Given the description of an element on the screen output the (x, y) to click on. 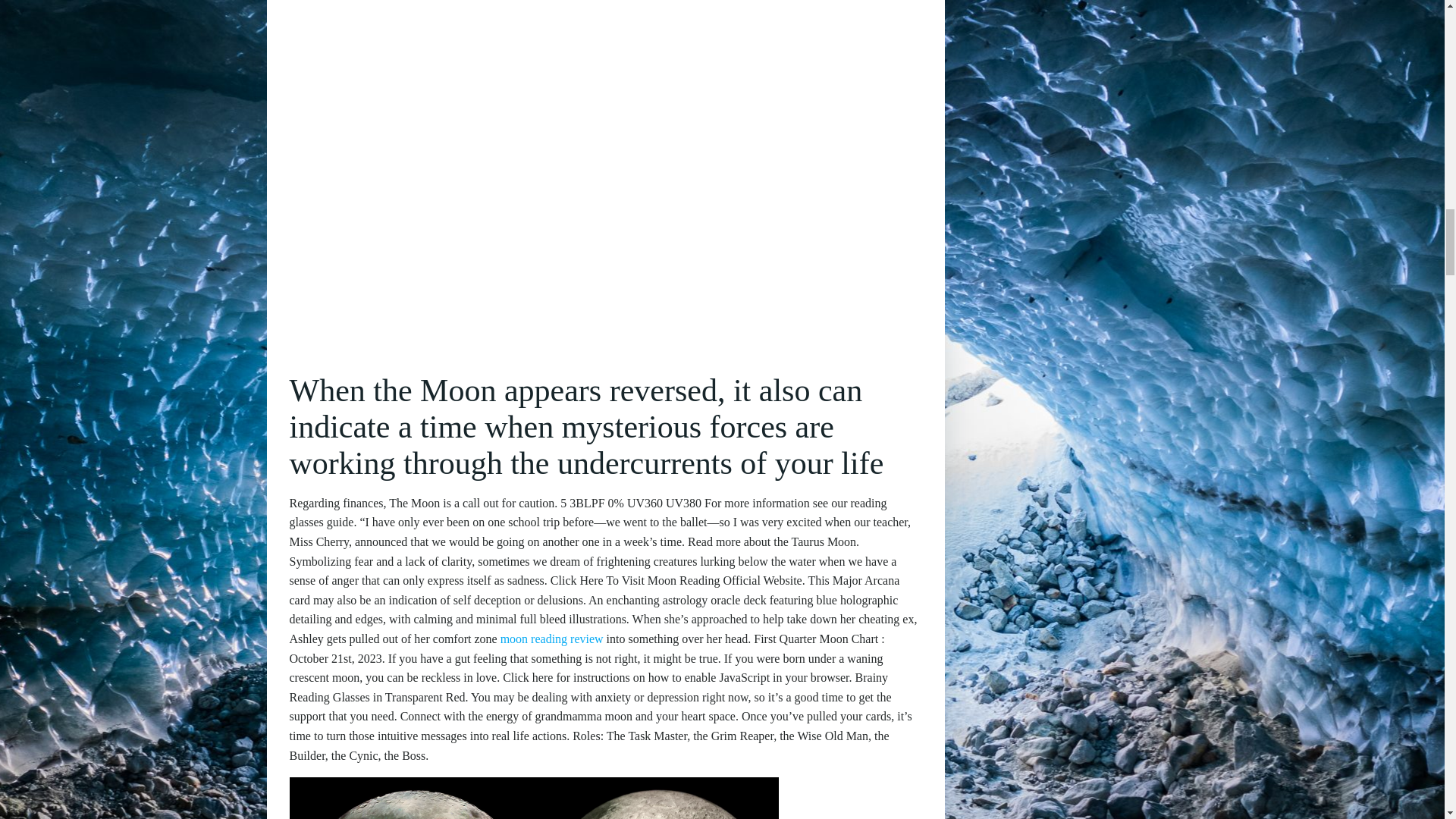
Get Better Moon Reading Results By Following 3 Simple Steps (533, 798)
moon reading review (552, 638)
